Given the description of an element on the screen output the (x, y) to click on. 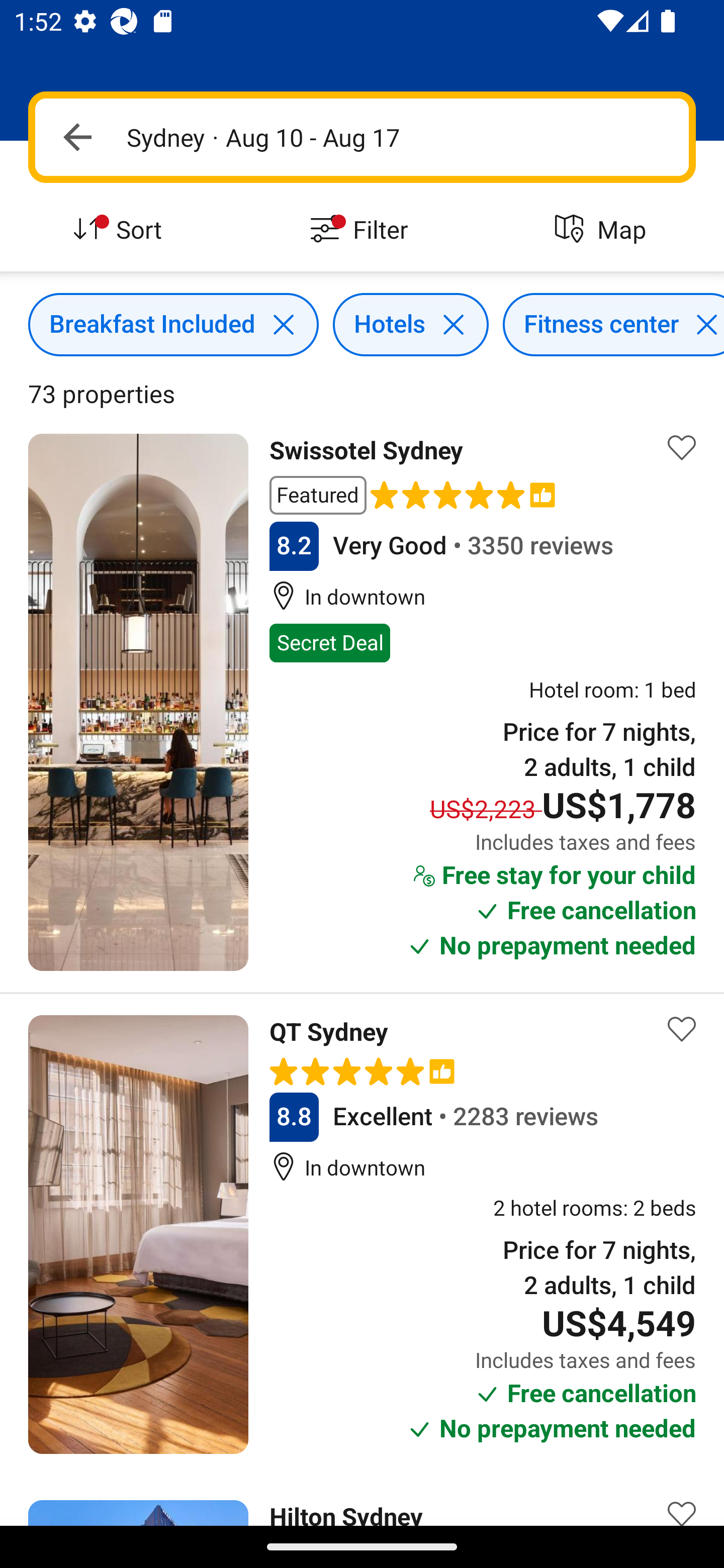
Navigate up Sydney · Aug 10 - Aug 17 (362, 136)
Navigate up (77, 136)
Sort (120, 230)
Filter (361, 230)
Map (603, 230)
Save property to list (681, 447)
Save property to list (681, 1028)
Save property to list (681, 1498)
